Given the description of an element on the screen output the (x, y) to click on. 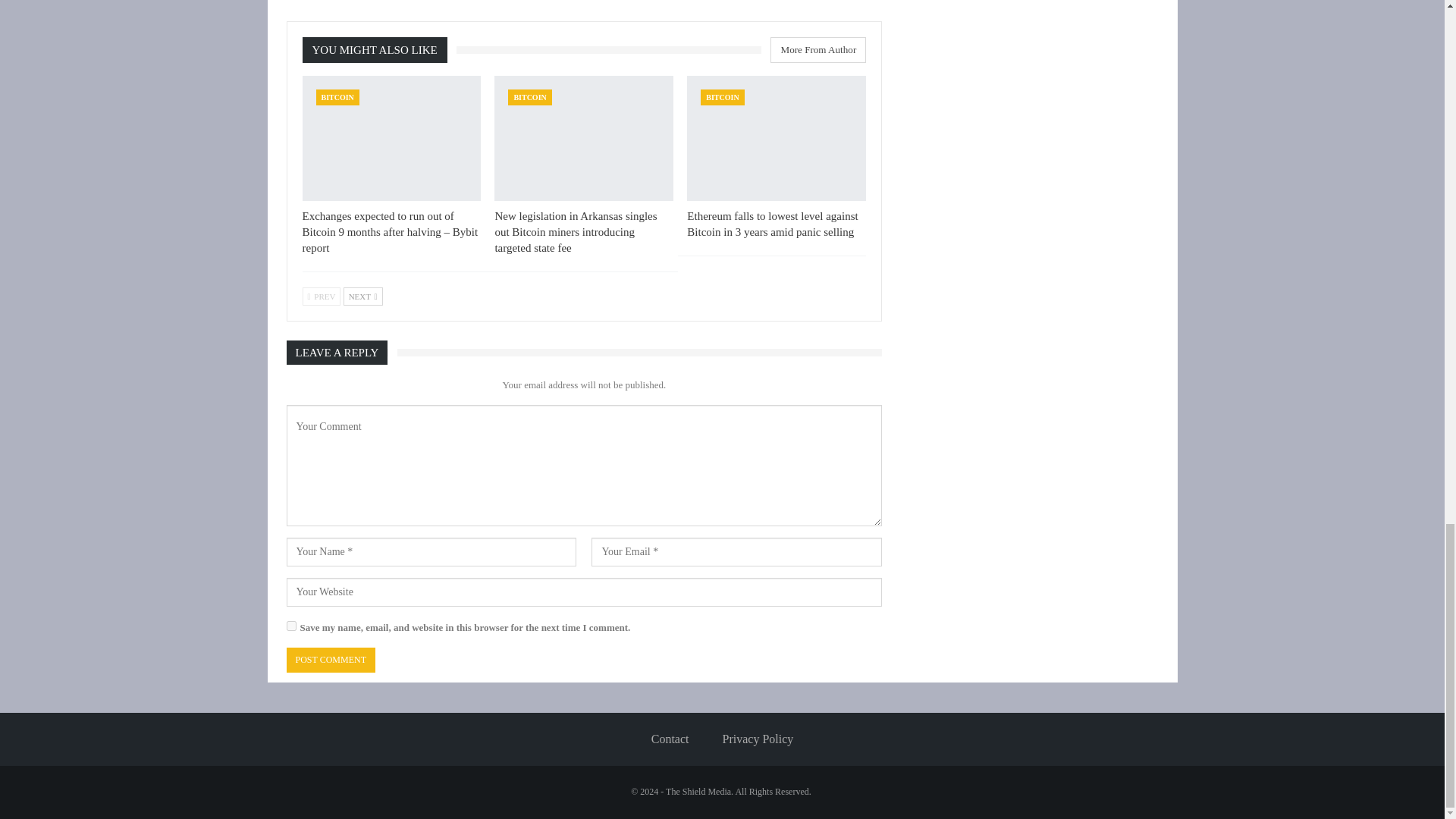
yes (291, 625)
Post Comment (330, 659)
